Given the description of an element on the screen output the (x, y) to click on. 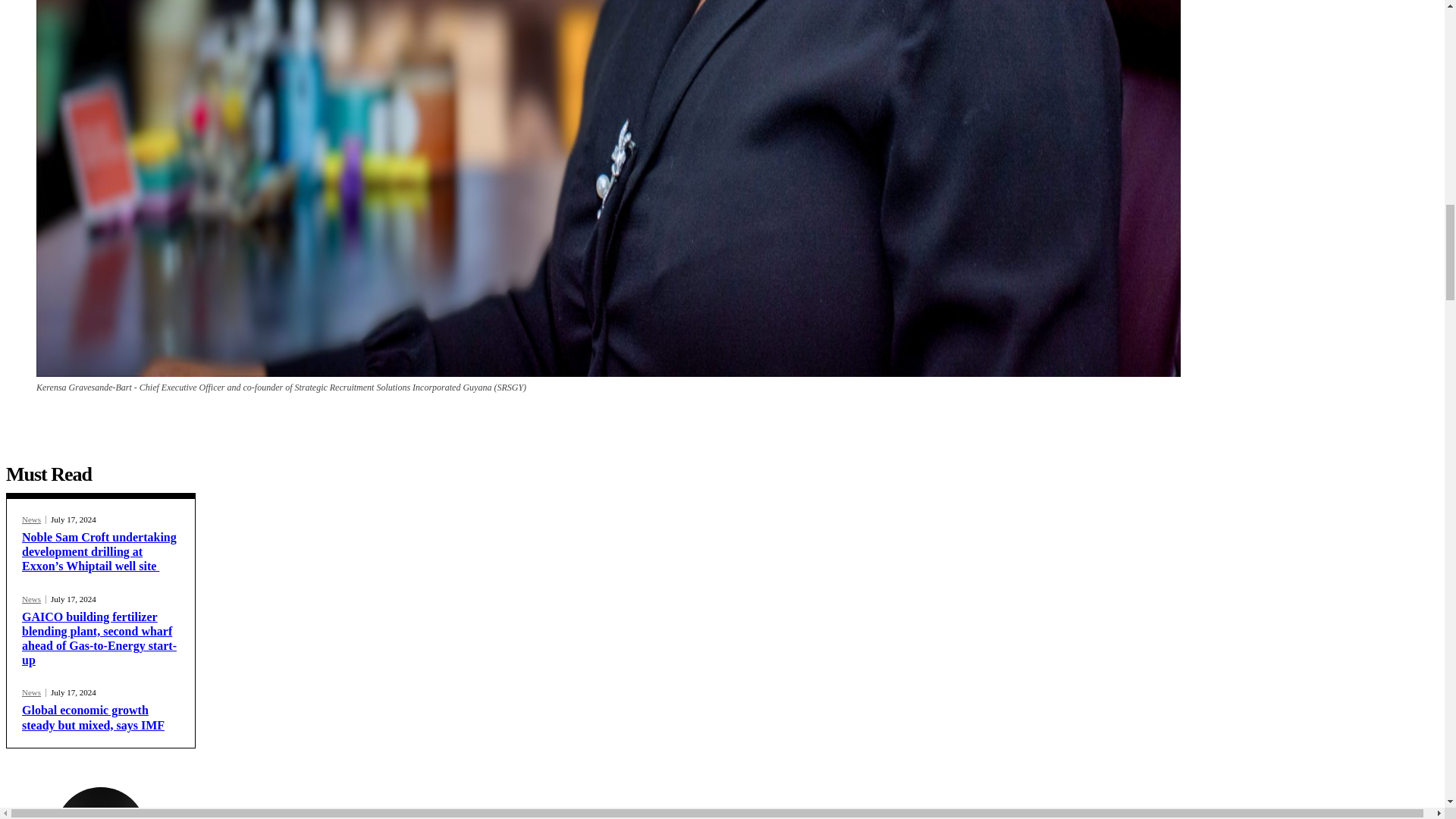
Global economic growth steady but mixed, says IMF (92, 717)
OilNOW (101, 803)
